Given the description of an element on the screen output the (x, y) to click on. 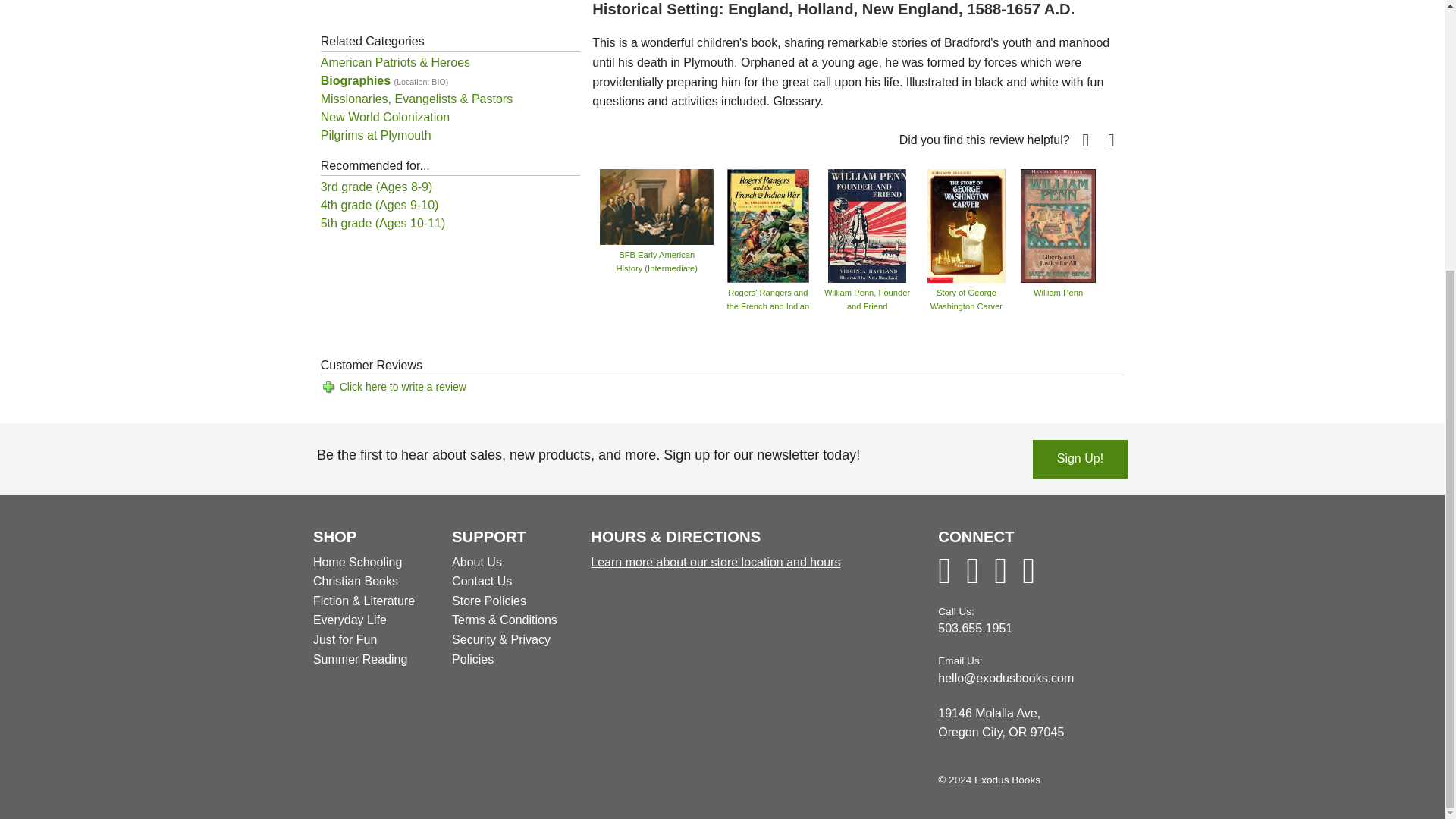
Story of George Washington Carver (966, 224)
William Penn, Founder and Friend (866, 224)
Rogers' Rangers and the French and Indian War (767, 224)
William Penn (1058, 224)
